Given the description of an element on the screen output the (x, y) to click on. 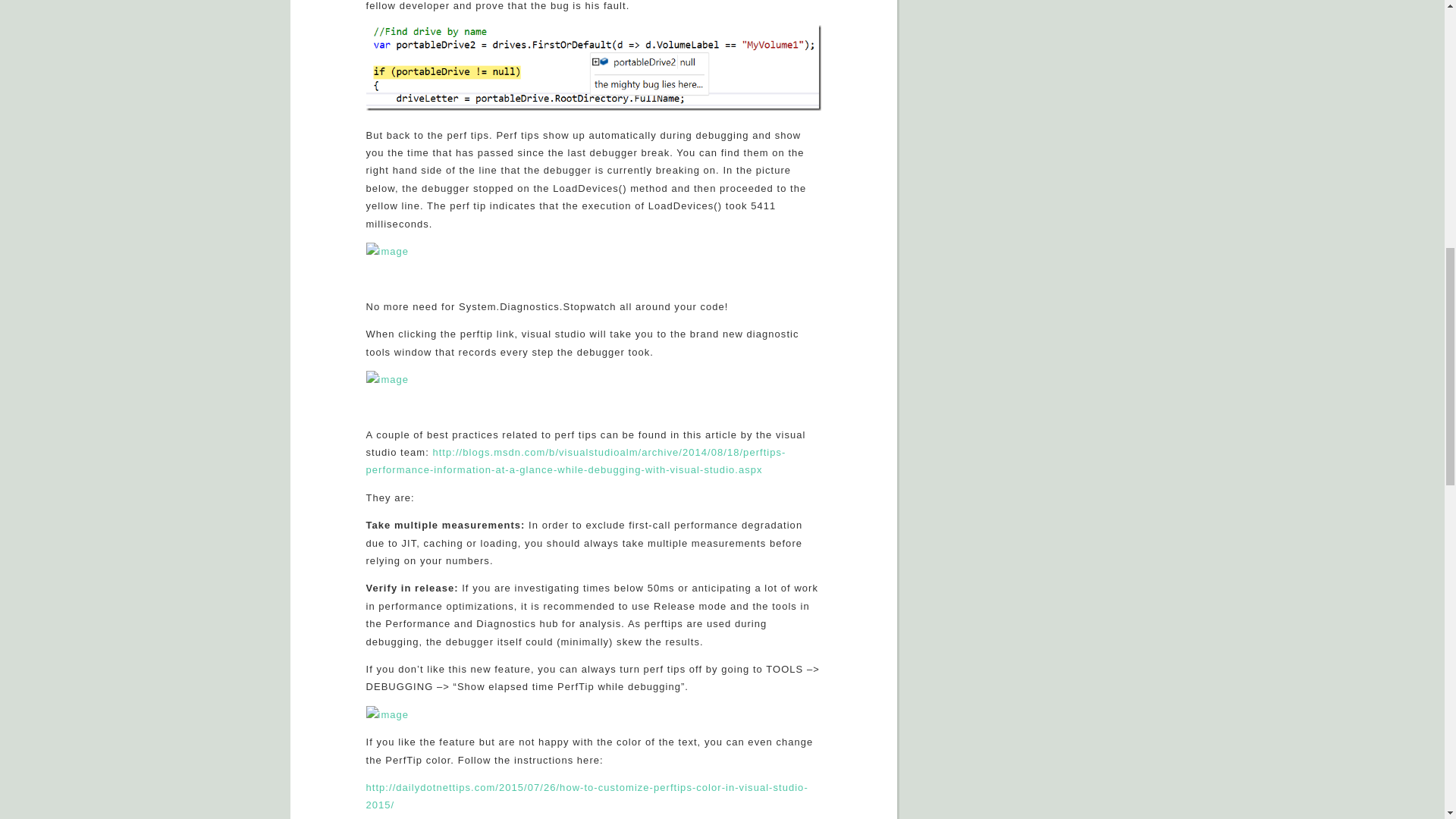
image (387, 251)
image (387, 714)
image (593, 68)
image (387, 379)
